Given the description of an element on the screen output the (x, y) to click on. 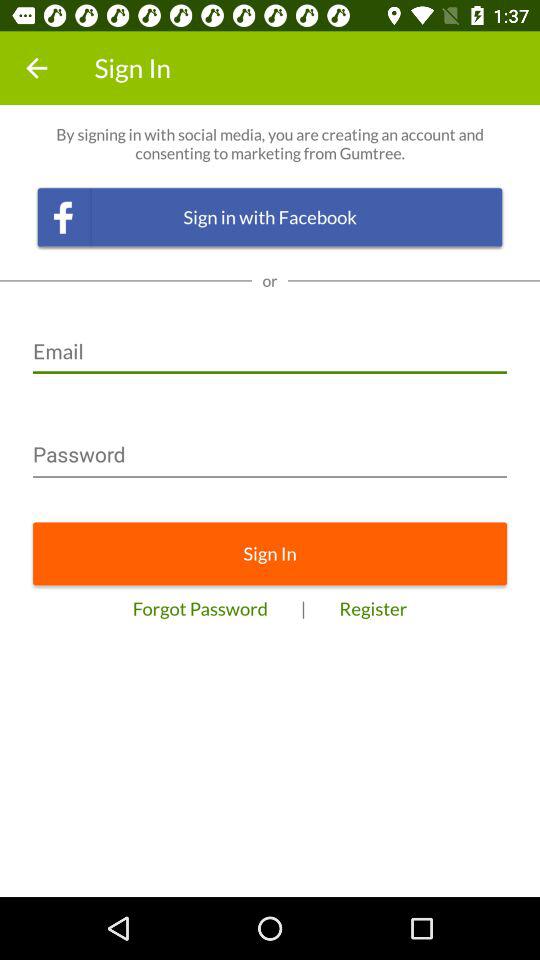
choose icon below sign in icon (373, 608)
